Given the description of an element on the screen output the (x, y) to click on. 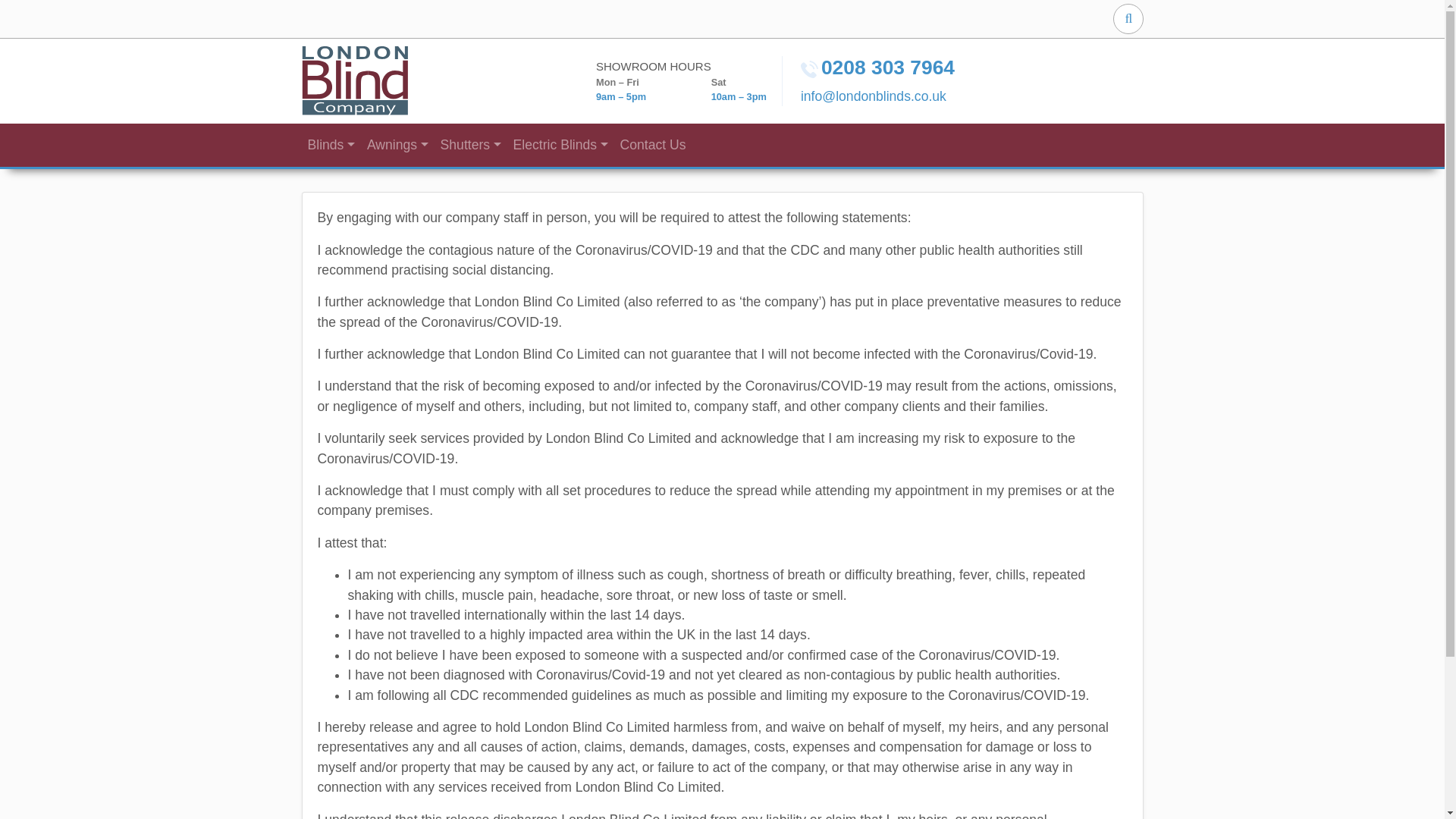
0208 303 7964 (888, 67)
Awnings (397, 144)
Shutters (469, 144)
Electric Blinds (560, 144)
Contact Us (653, 144)
Blinds (331, 144)
Blinds (331, 144)
Awnings (397, 144)
